Given the description of an element on the screen output the (x, y) to click on. 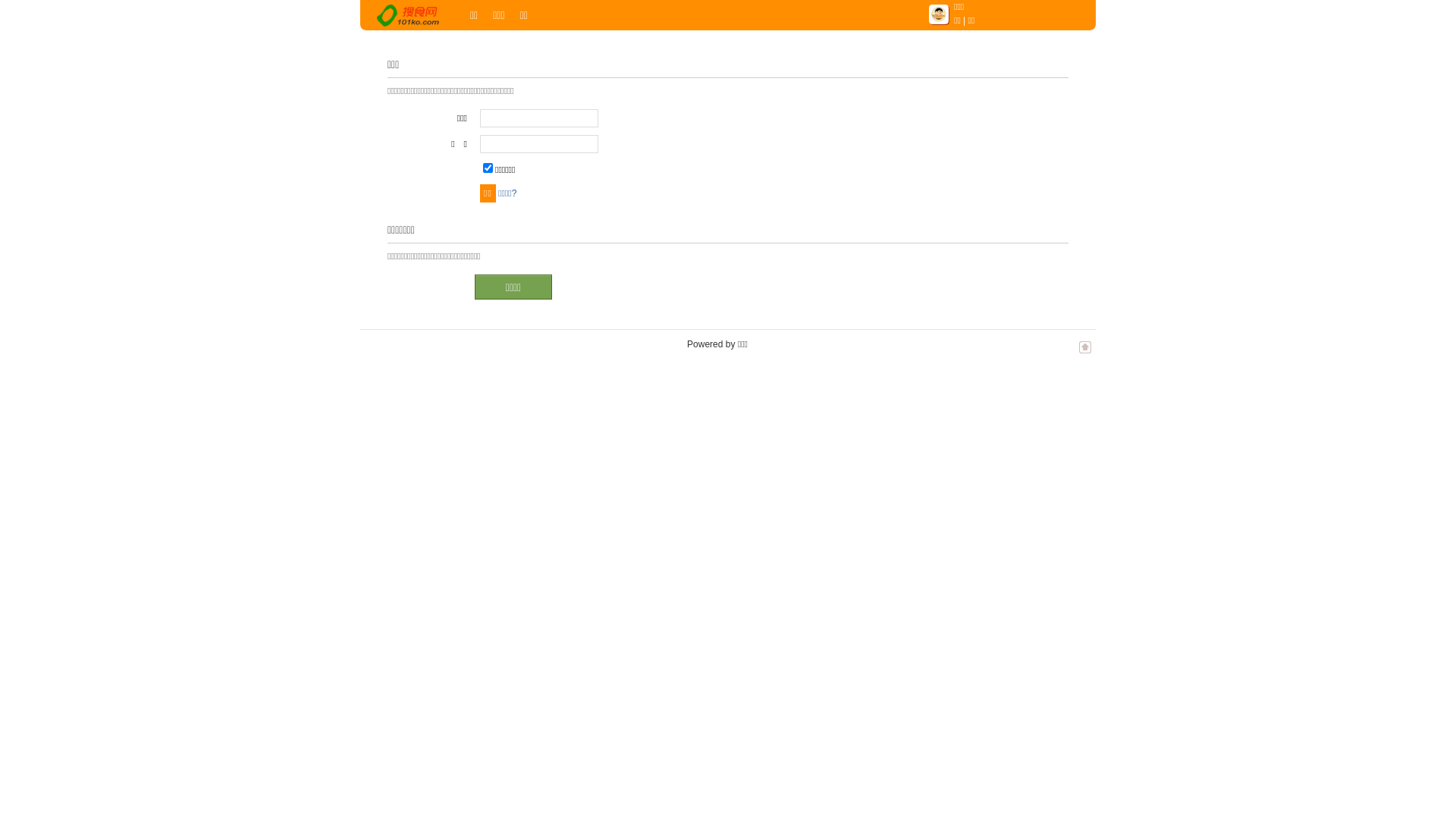
TOP Element type: hover (1084, 354)
